Given the description of an element on the screen output the (x, y) to click on. 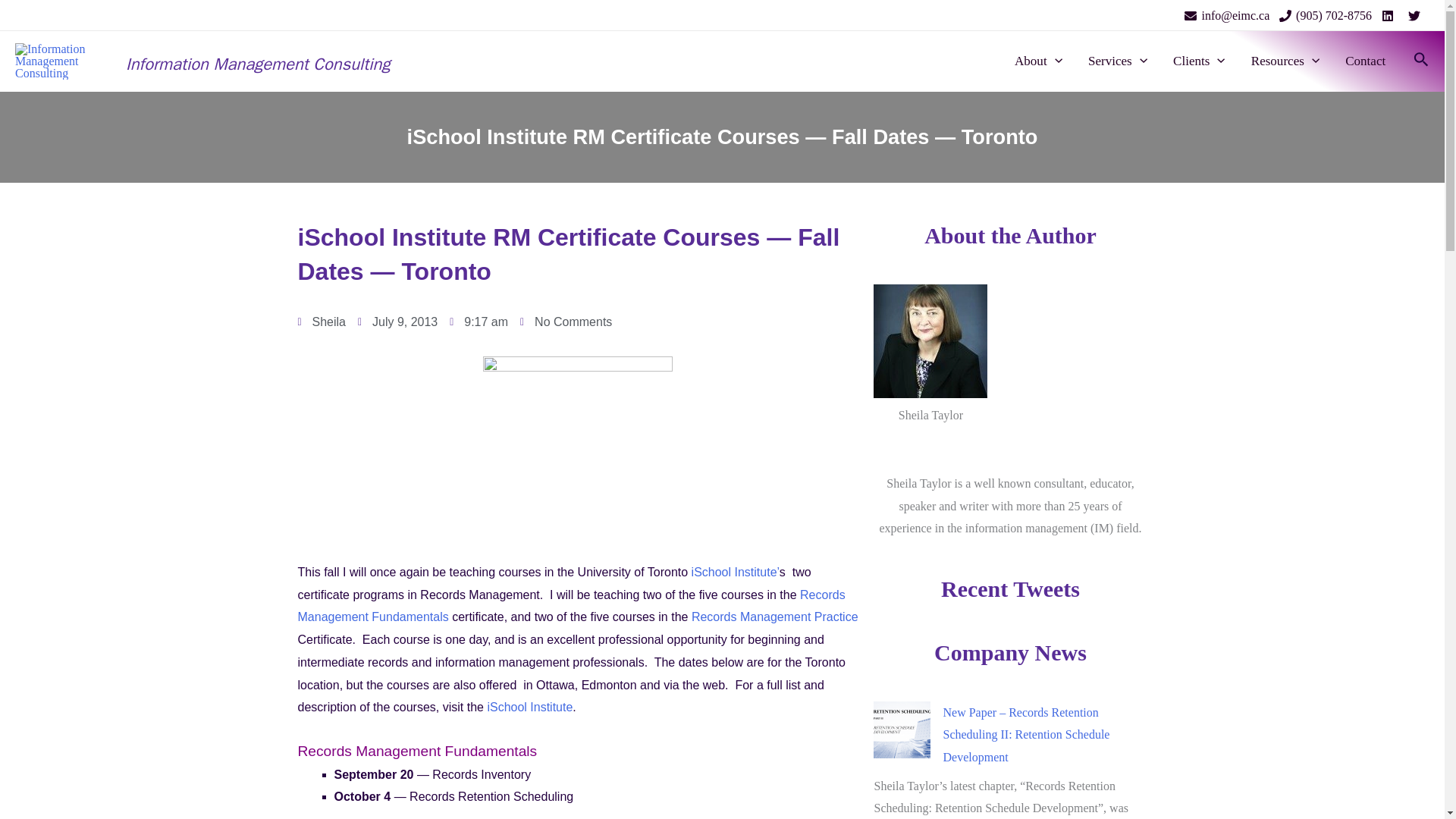
Clients (1199, 61)
Information Management Consulting (257, 64)
Resources (1285, 61)
Services (1117, 61)
iSchool Institute (732, 571)
iSchool Institute (529, 707)
Records Management Fundamentals (570, 606)
About (1038, 61)
Contact (1364, 61)
Records Management Practice (775, 616)
